Given the description of an element on the screen output the (x, y) to click on. 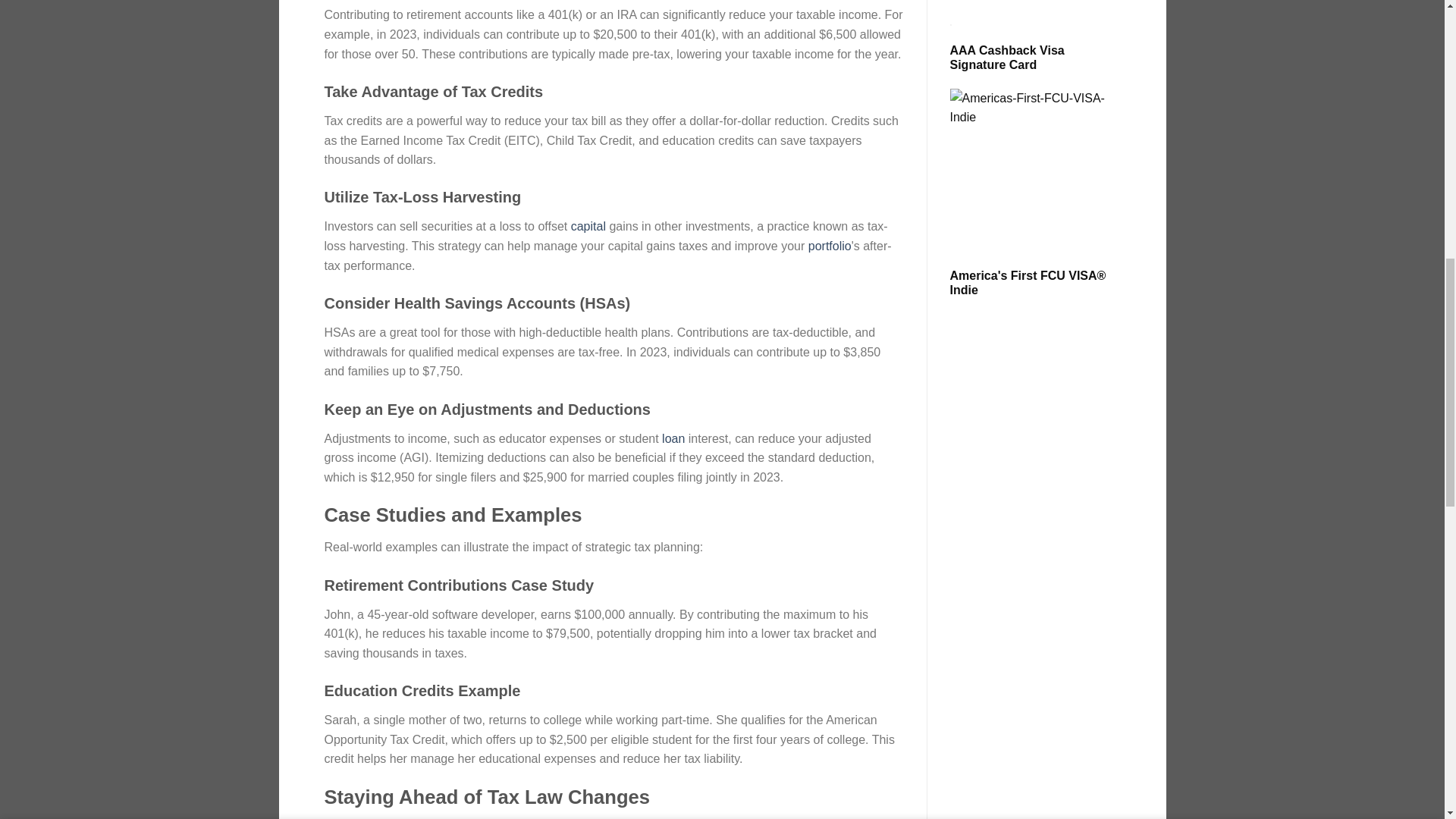
portfolio (829, 245)
Loan (673, 438)
loan (673, 438)
capital (587, 226)
Portfolio (829, 245)
Capital (587, 226)
